Given the description of an element on the screen output the (x, y) to click on. 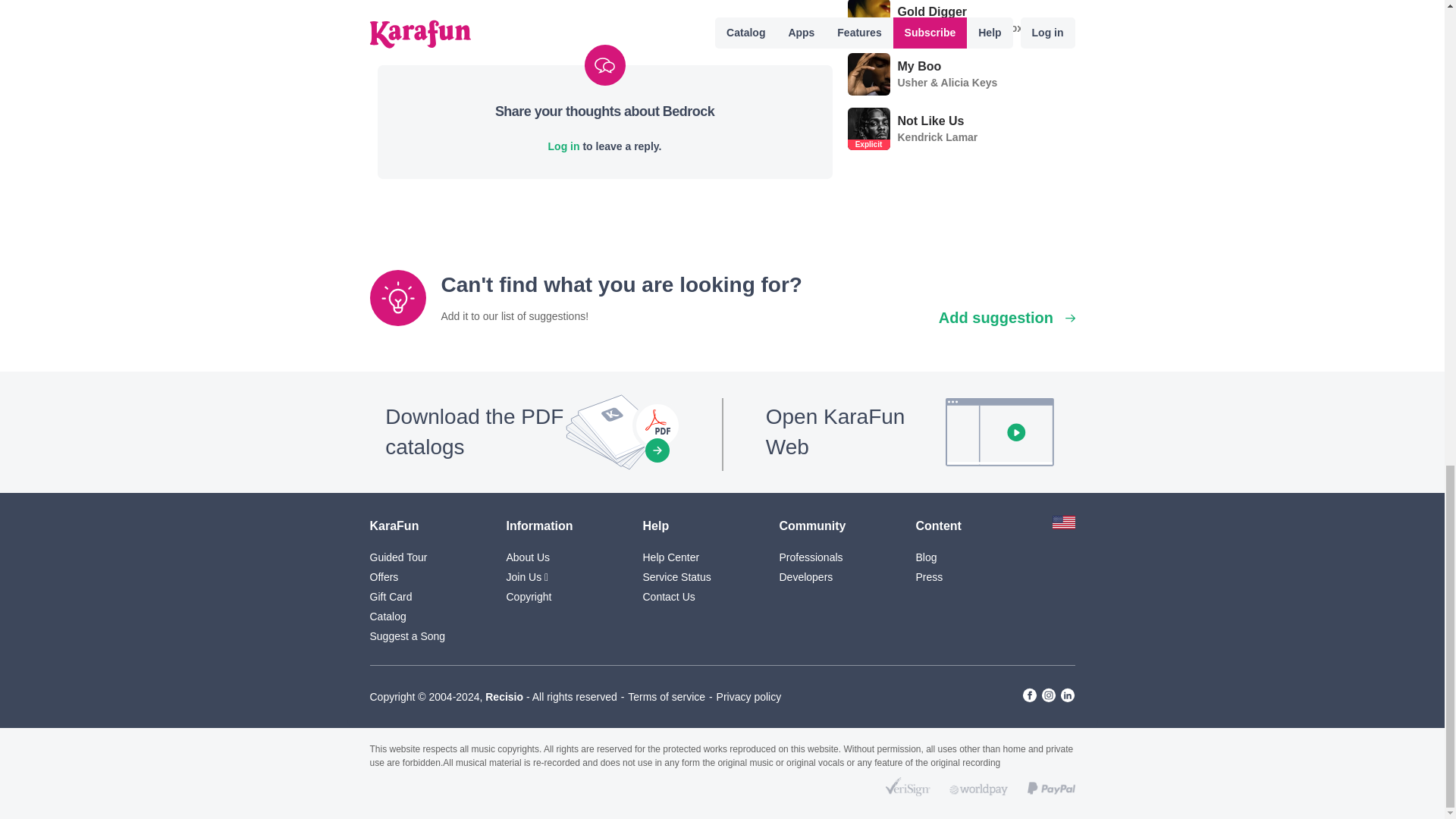
Other countries (1063, 524)
Explicit (868, 144)
Explicit (868, 35)
Log in (563, 146)
RECISIO Group (503, 696)
